Given the description of an element on the screen output the (x, y) to click on. 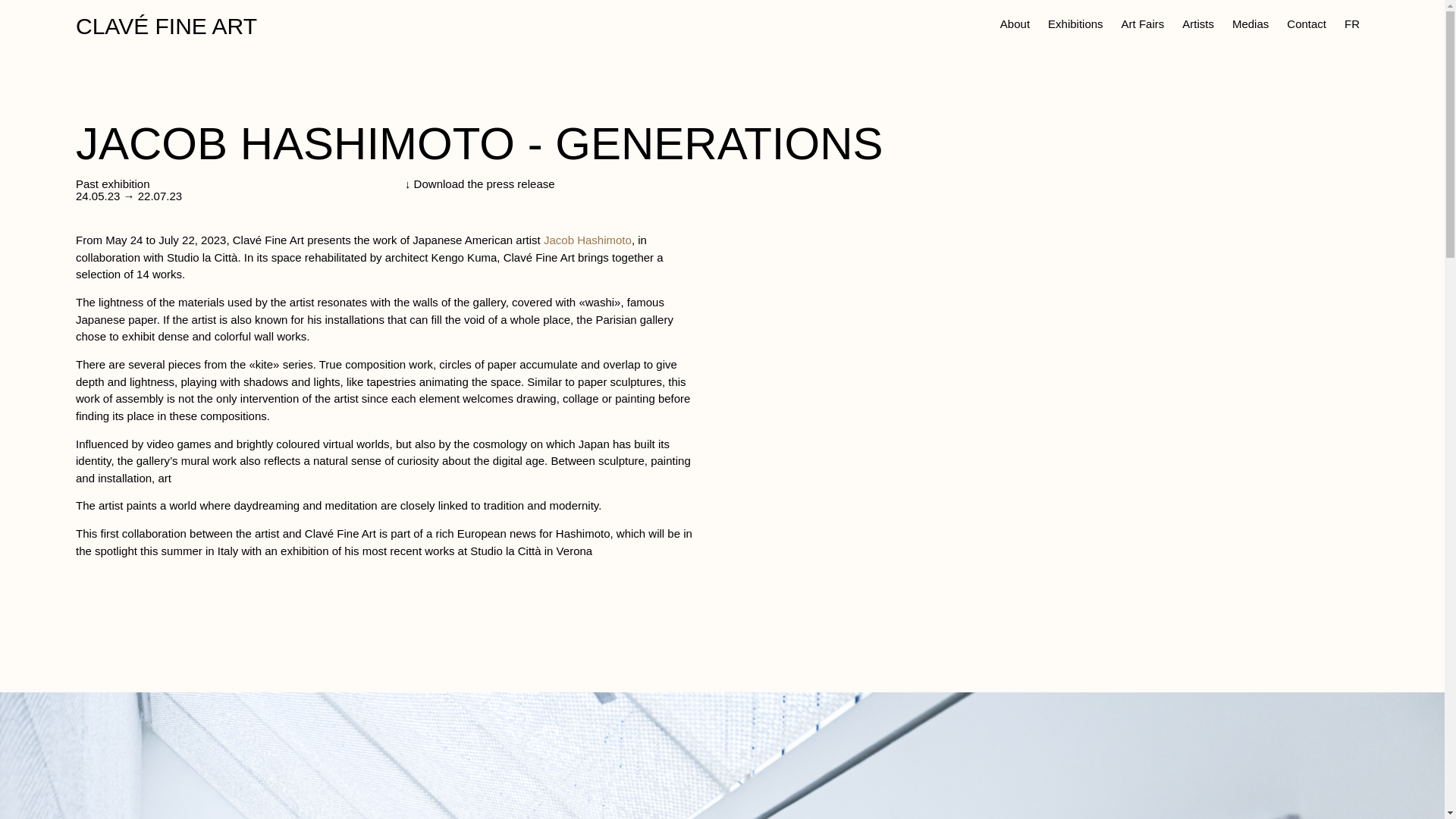
Contact (1306, 24)
Artists (1198, 24)
Exhibitions (1075, 24)
FR (1351, 24)
Medias (1250, 24)
About (1015, 24)
Art Fairs (1142, 24)
